Given the description of an element on the screen output the (x, y) to click on. 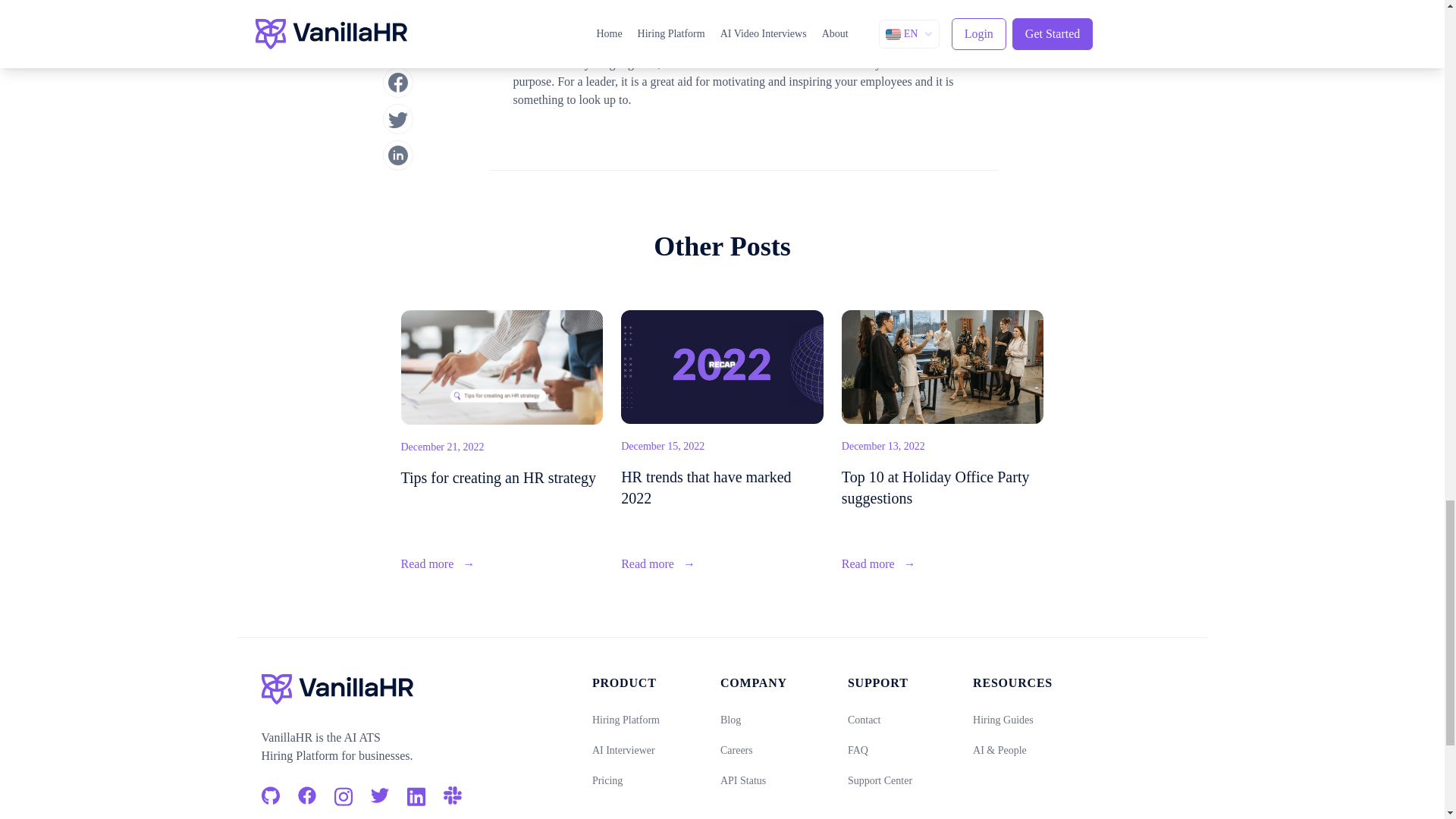
Instagram (342, 794)
FAQ (857, 749)
Support Center (879, 780)
Hiring Platform (625, 719)
API Status (742, 780)
Hiring Guides (1002, 719)
Careers (736, 749)
Facebook (306, 794)
Linkedin (415, 794)
Slack (451, 794)
Blog (730, 719)
AI Interviewer (623, 749)
Pricing (607, 780)
GitHub (269, 794)
Contact (863, 719)
